Given the description of an element on the screen output the (x, y) to click on. 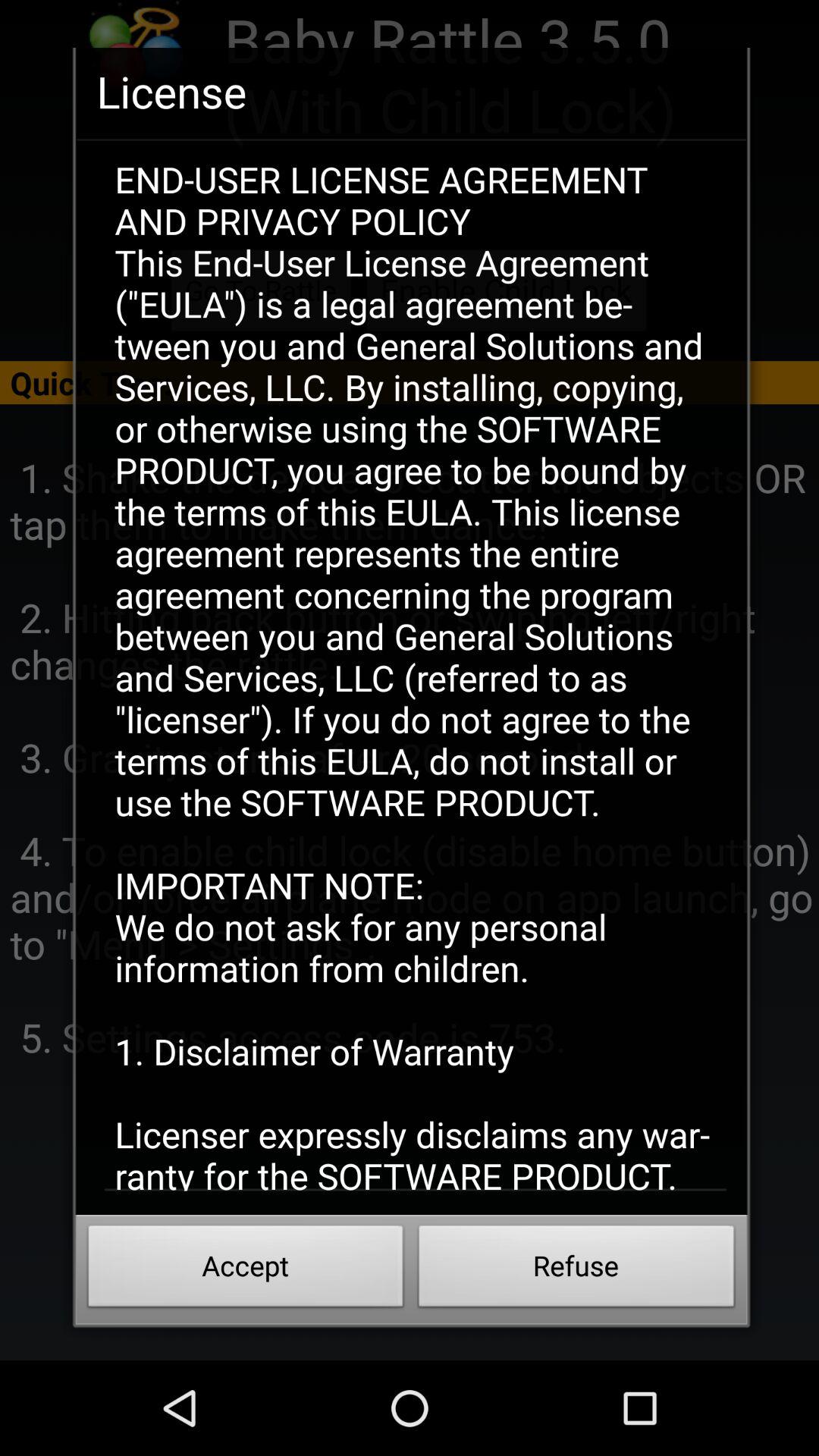
jump to the accept button (245, 1270)
